Given the description of an element on the screen output the (x, y) to click on. 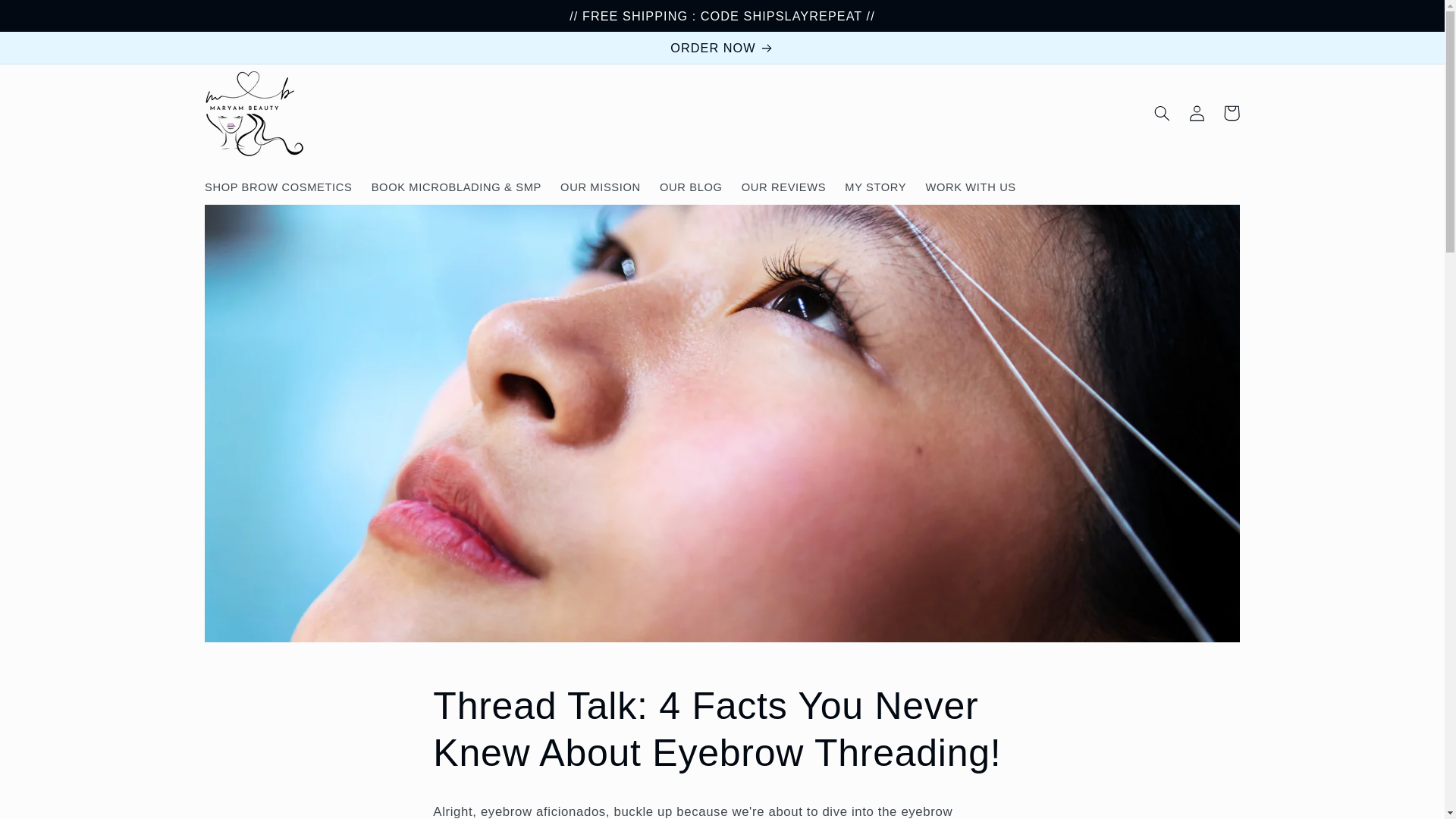
OUR REVIEWS (783, 186)
MY STORY (875, 186)
OUR BLOG (690, 186)
Cart (1231, 112)
SHOP BROW COSMETICS (278, 186)
Log in (1196, 112)
WORK WITH US (970, 186)
OUR MISSION (600, 186)
Skip to content (48, 18)
